Given the description of an element on the screen output the (x, y) to click on. 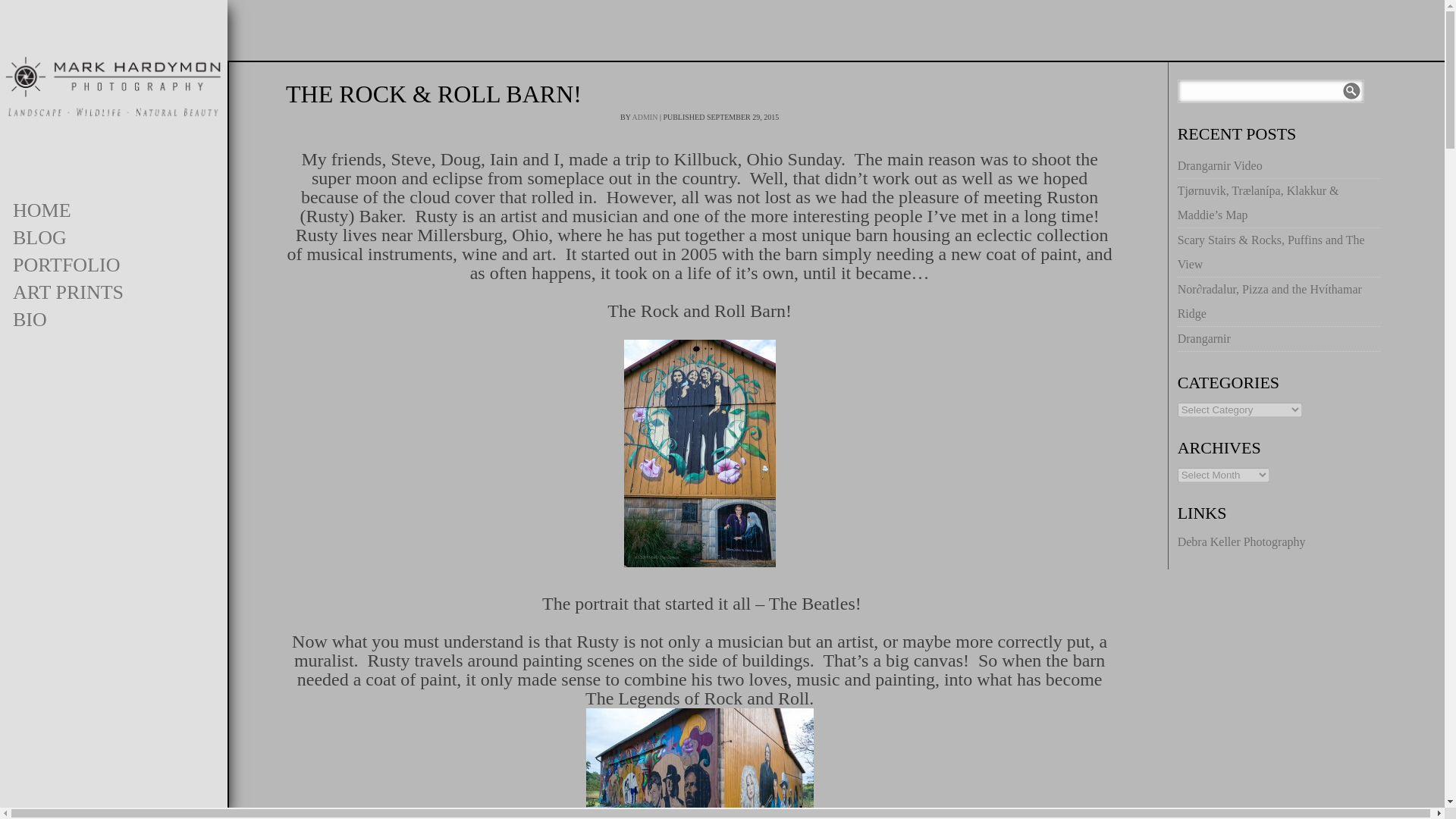
ADMIN (644, 117)
Debra Keller Photography (1241, 541)
Drangarnir (1203, 338)
BLOG (113, 237)
Search (1351, 91)
Search (1351, 91)
HOME (113, 210)
BIO (113, 319)
PORTFOLIO (113, 265)
Drangarnir Video (1219, 164)
ART PRINTS (113, 292)
View all posts by admin (644, 117)
mark hardymon photography (113, 87)
